Given the description of an element on the screen output the (x, y) to click on. 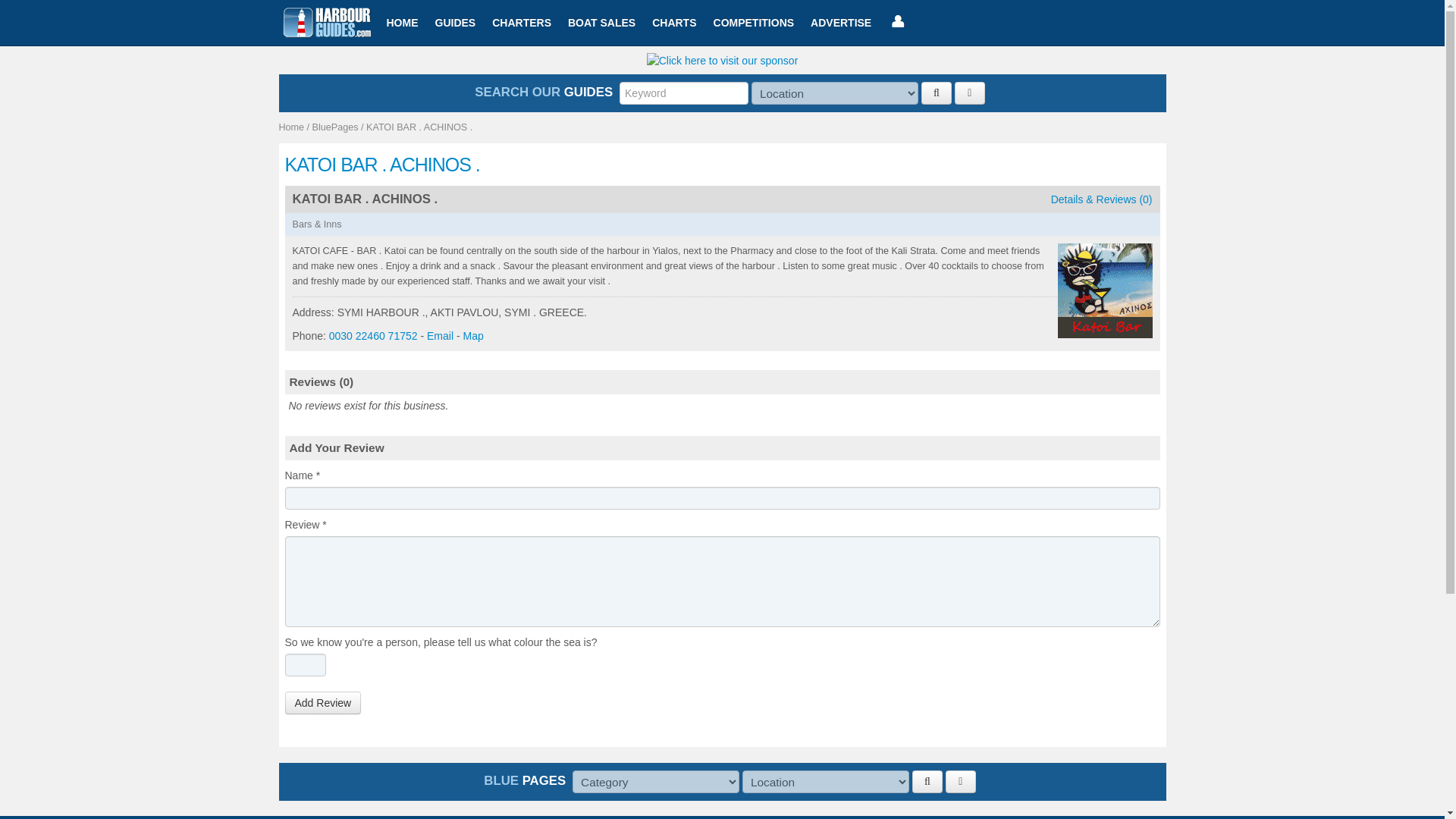
CHARTS (673, 22)
Home (291, 127)
Competitions (753, 22)
KATOI BAR . ACHINOS . (418, 127)
ADVERTISE (840, 22)
BluePages (335, 127)
Add Review (323, 702)
Charters (521, 22)
HOME (401, 22)
Boat Sales (601, 22)
COMPETITIONS (753, 22)
Map (473, 336)
Charts (673, 22)
CHARTERS (521, 22)
